Given the description of an element on the screen output the (x, y) to click on. 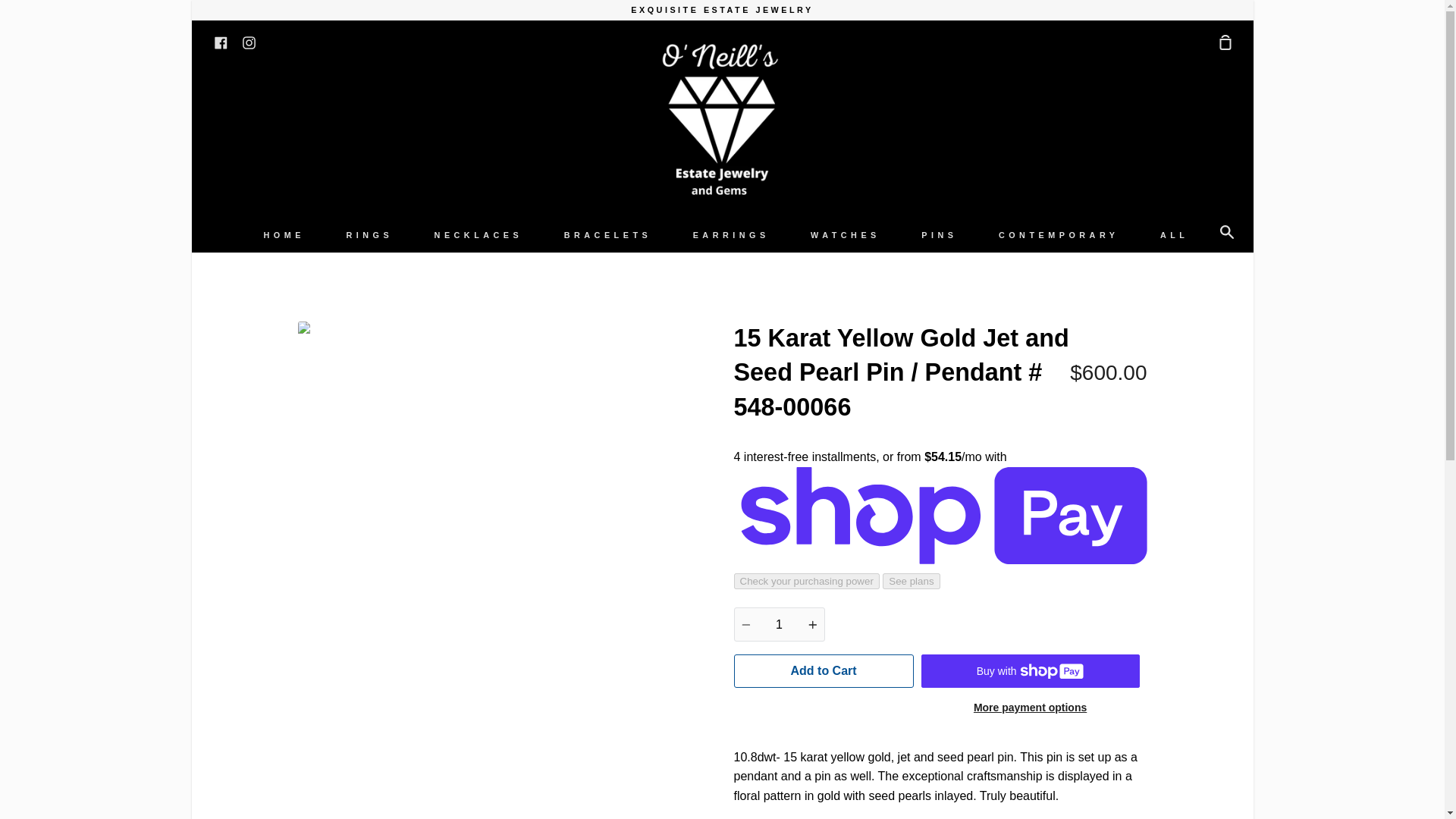
1 (779, 624)
BRACELETS (607, 235)
PINS (938, 235)
HOME (284, 235)
NECKLACES (478, 235)
Add to Cart (823, 670)
Instagram (249, 41)
Facebook (220, 41)
RINGS (369, 235)
EARRINGS (730, 235)
